Given the description of an element on the screen output the (x, y) to click on. 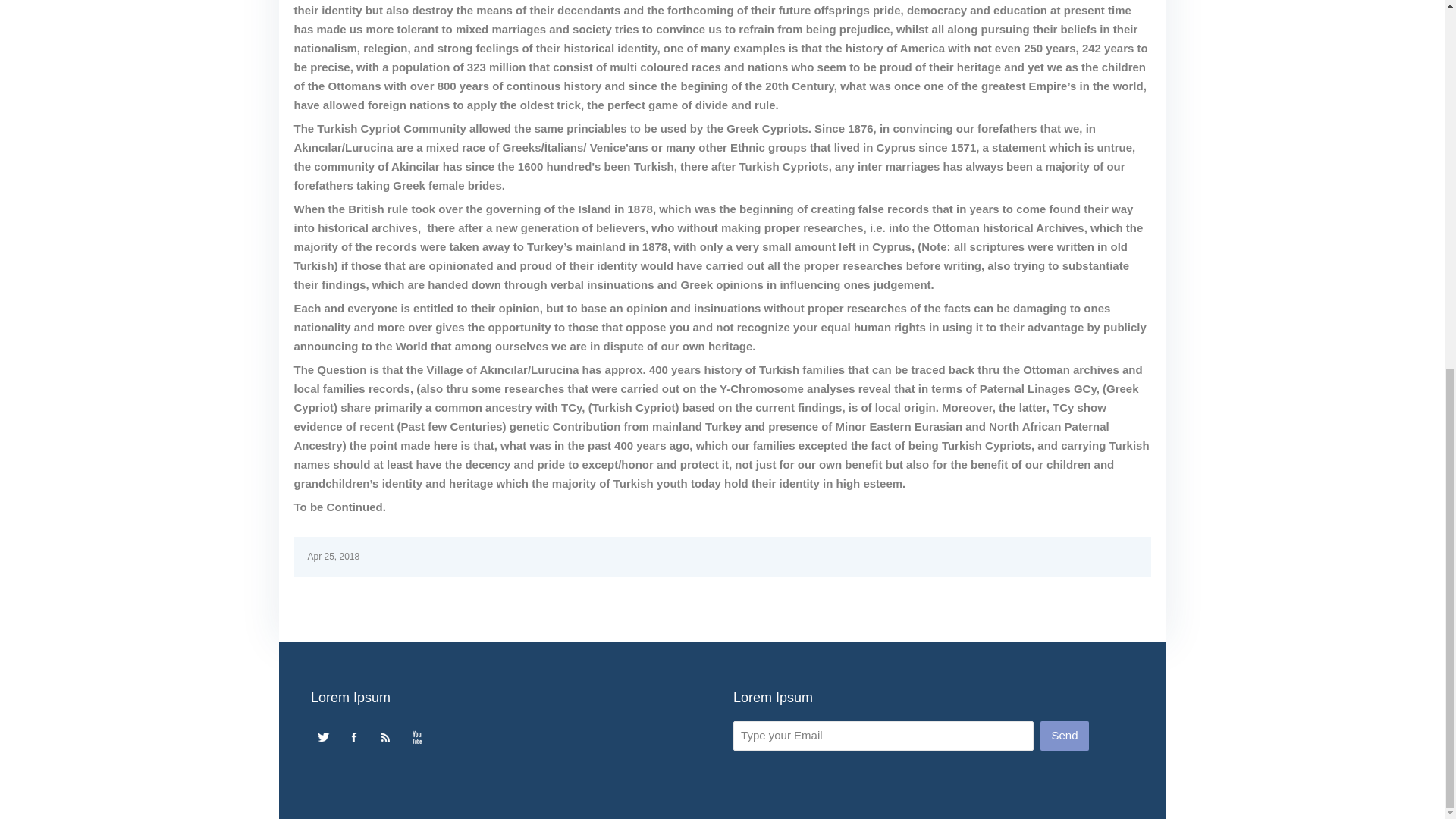
Facebook (354, 736)
Youtube (416, 736)
Twitter (322, 736)
Send (1064, 736)
Rss (384, 736)
